Given the description of an element on the screen output the (x, y) to click on. 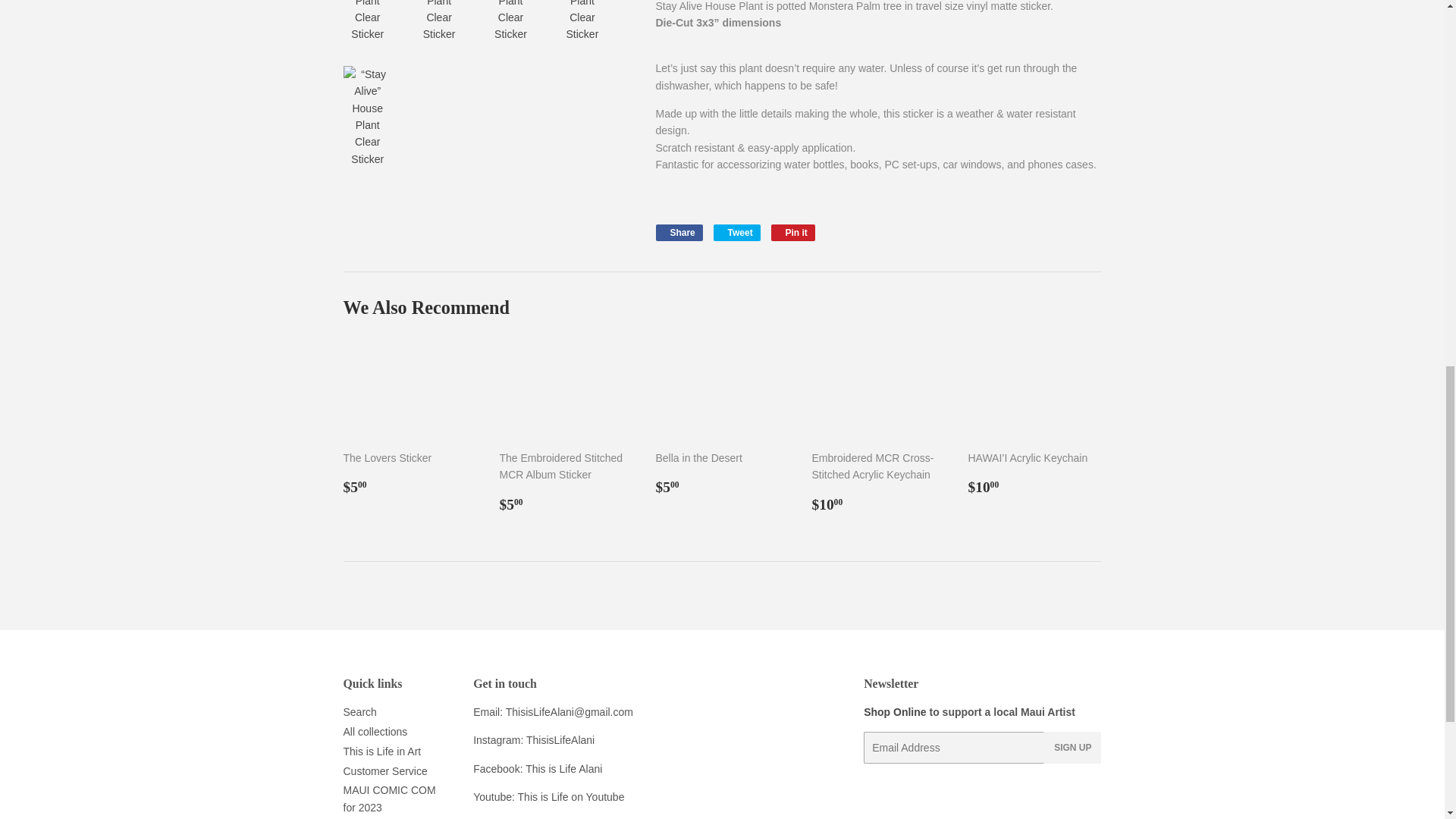
Share on Facebook (678, 232)
Pin on Pinterest (793, 232)
Tweet on Twitter (736, 232)
